Given the description of an element on the screen output the (x, y) to click on. 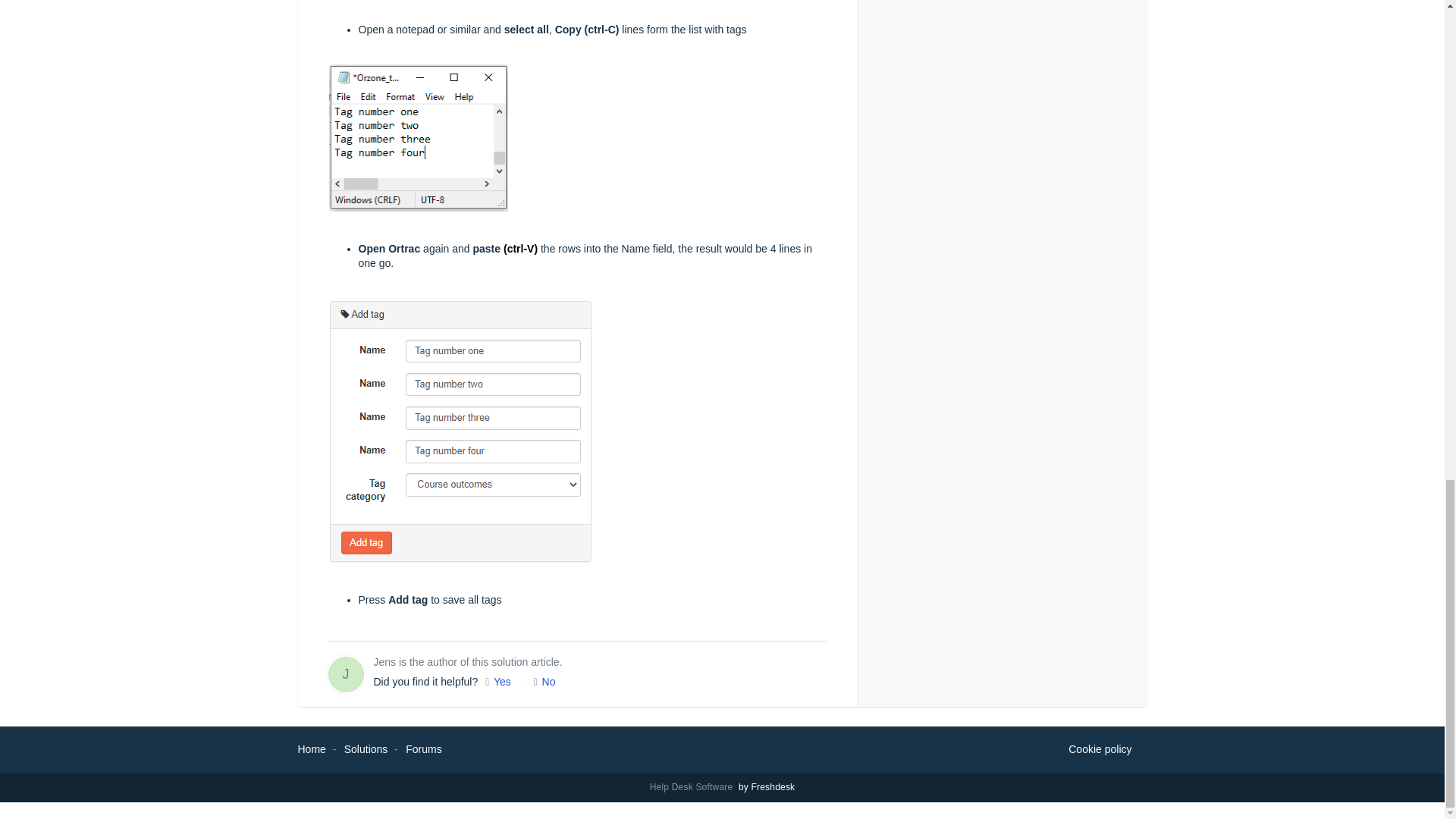
Forums (423, 748)
Why we love Cookies (1099, 750)
Home (310, 748)
Cookie policy (1099, 750)
Help Desk Software (693, 787)
Solutions (365, 748)
